Given the description of an element on the screen output the (x, y) to click on. 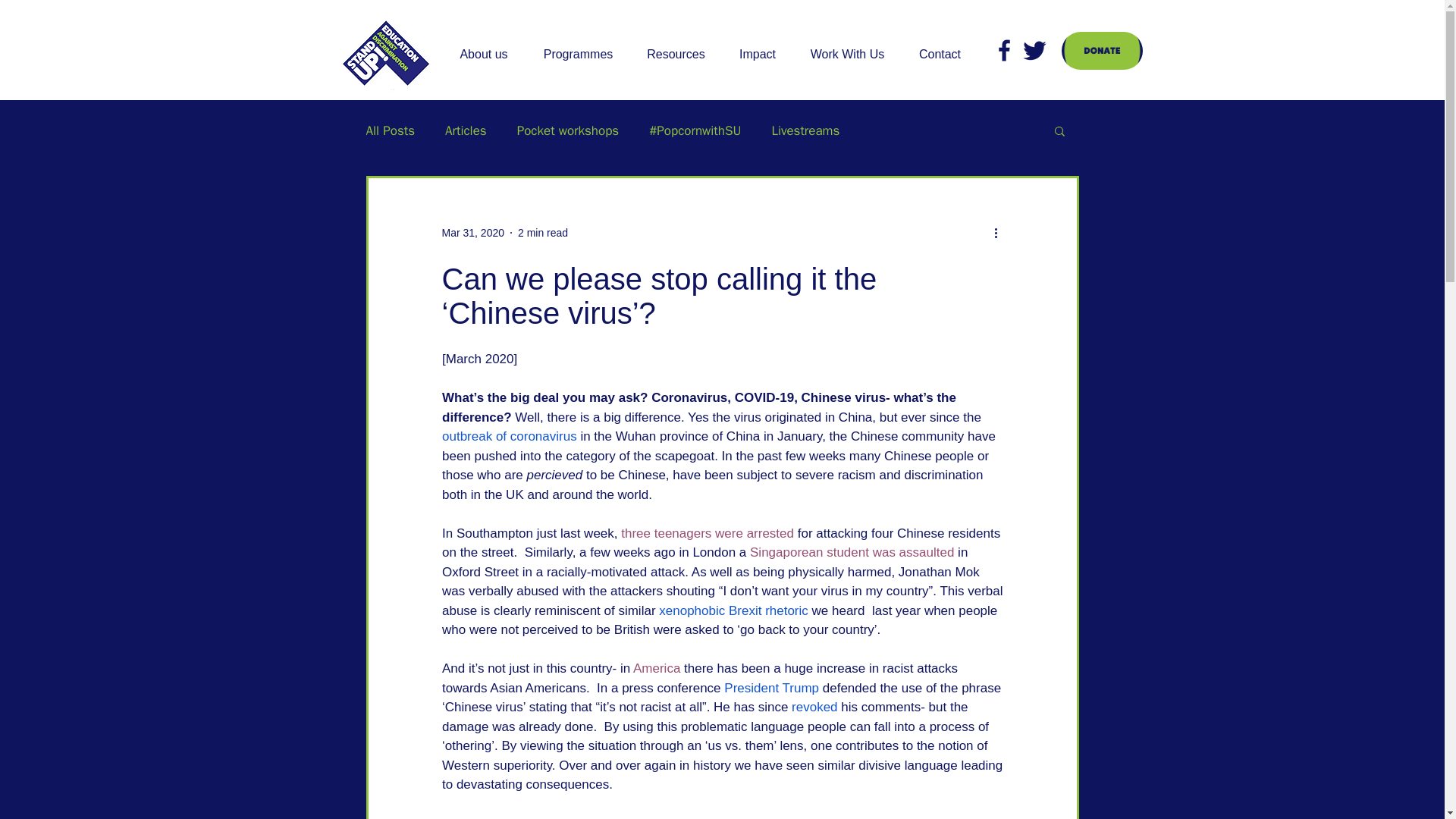
revoked (814, 707)
Contact (939, 54)
America (655, 667)
Livestreams (805, 129)
2 min read (542, 232)
Impact (757, 54)
three teenagers were arrested (707, 533)
All Posts (389, 129)
President Trump (770, 687)
xenophobic Brexit rhetoric (733, 610)
Work With Us (847, 54)
Singaporean student was assaulted (851, 552)
outbreak of coronavirus (508, 436)
About us (483, 54)
Mar 31, 2020 (472, 232)
